Given the description of an element on the screen output the (x, y) to click on. 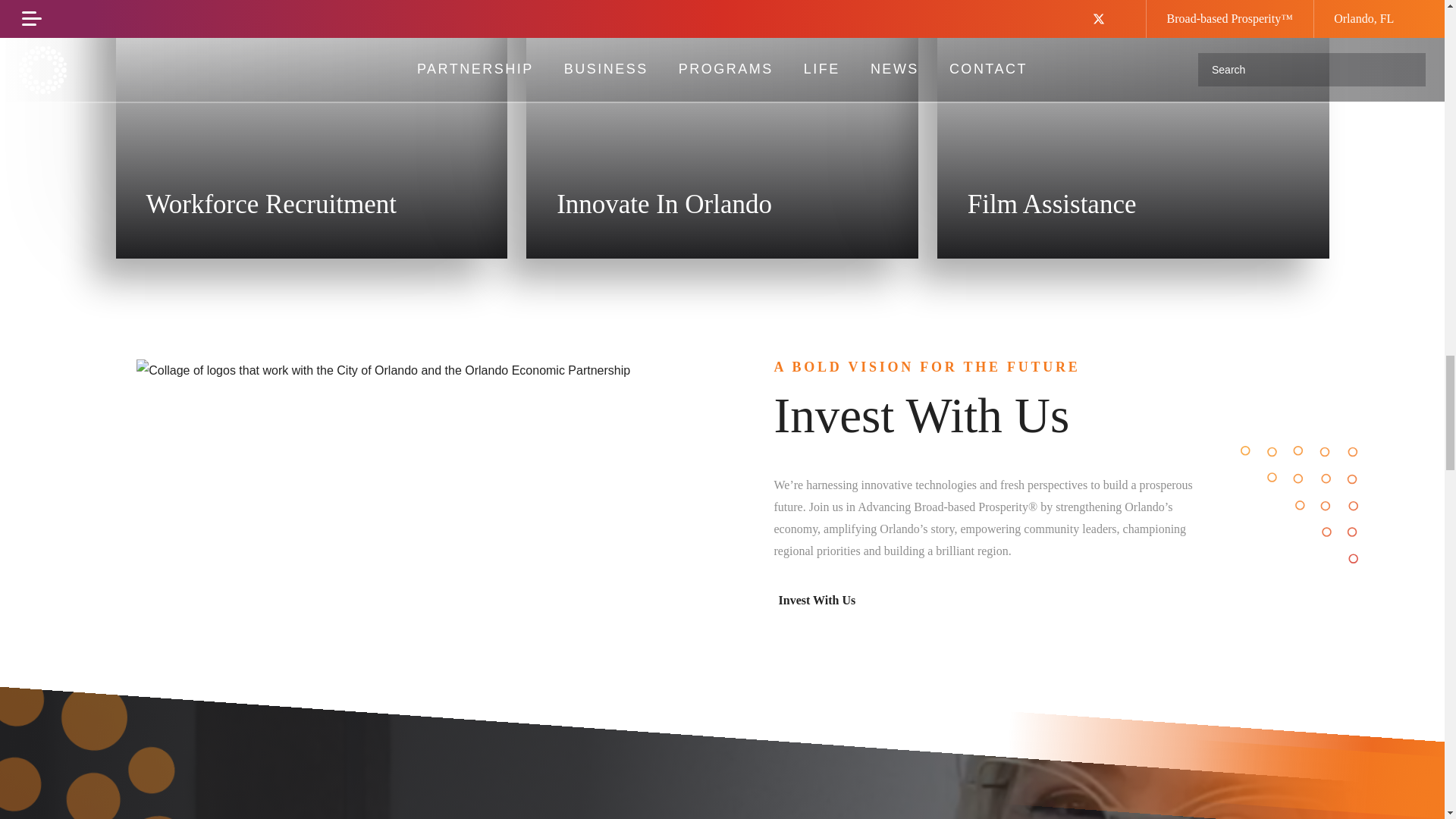
Home 24 (1133, 129)
Home 25 (383, 370)
Home 22 (721, 129)
Home 20 (310, 129)
